Given the description of an element on the screen output the (x, y) to click on. 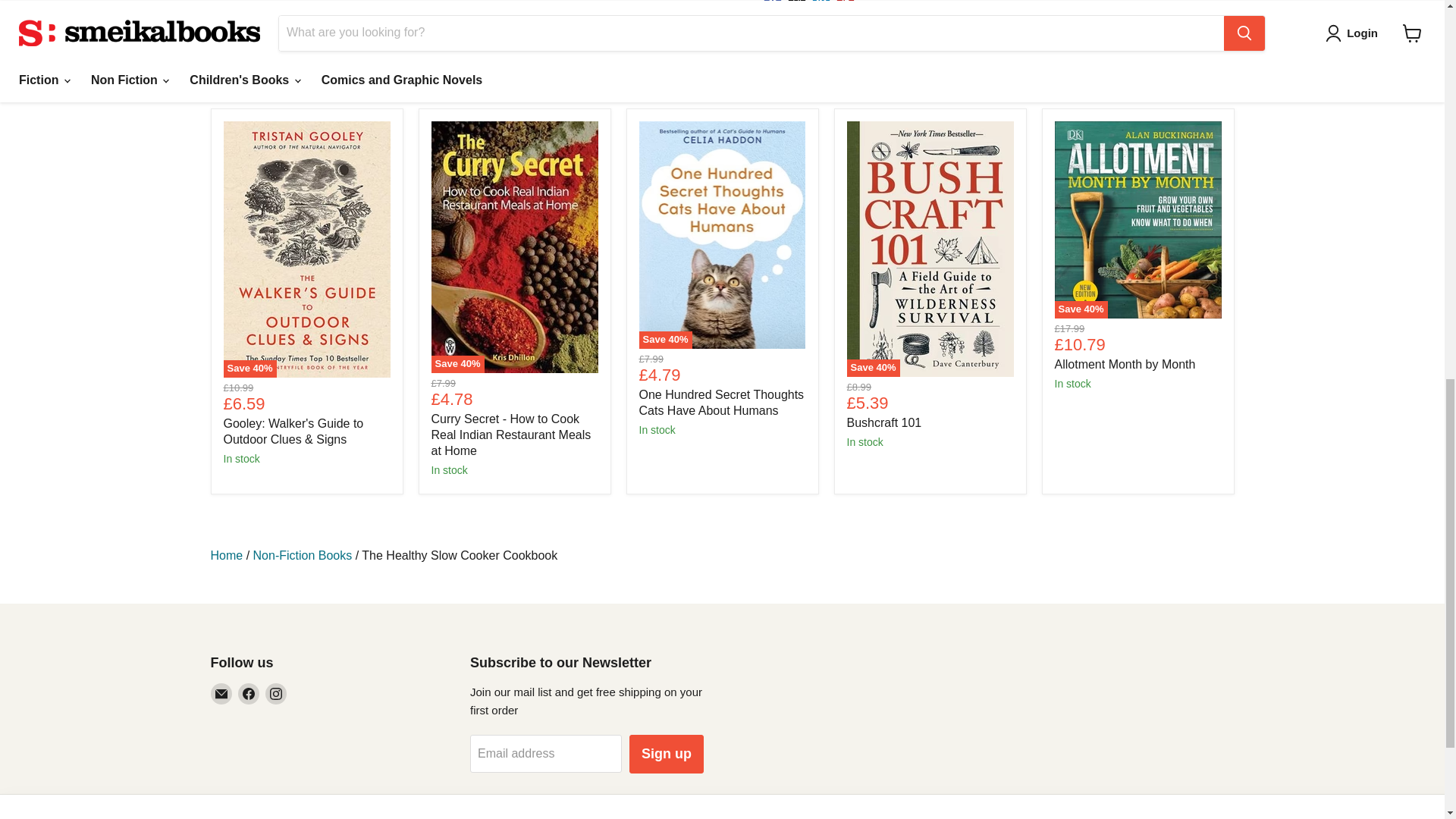
Instagram (275, 693)
Facebook (248, 693)
Email (221, 693)
